Given the description of an element on the screen output the (x, y) to click on. 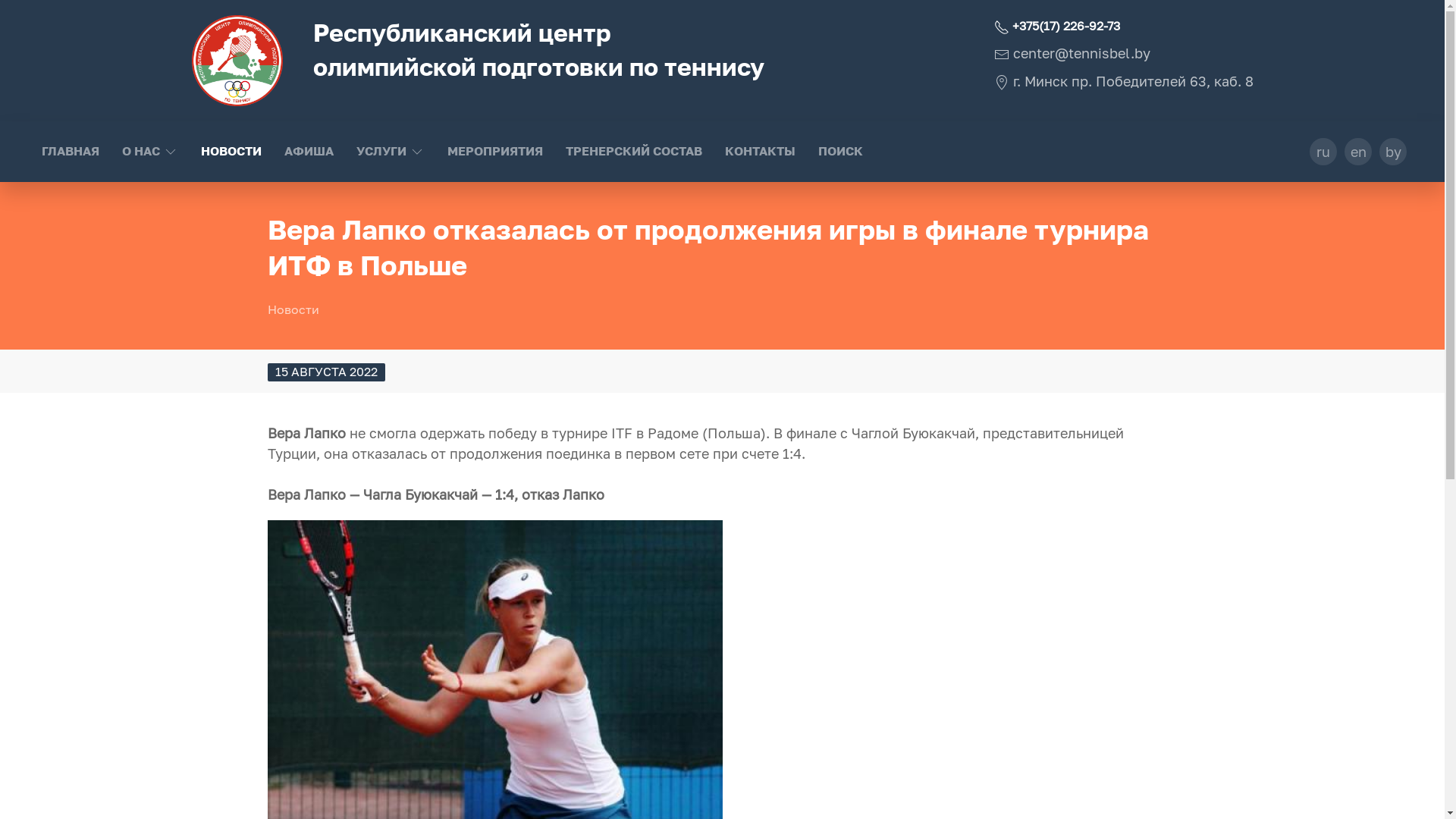
en Element type: text (1357, 151)
+375(17) 226-92-73 Element type: text (1056, 26)
ru Element type: text (1322, 151)
by Element type: text (1392, 151)
